Given the description of an element on the screen output the (x, y) to click on. 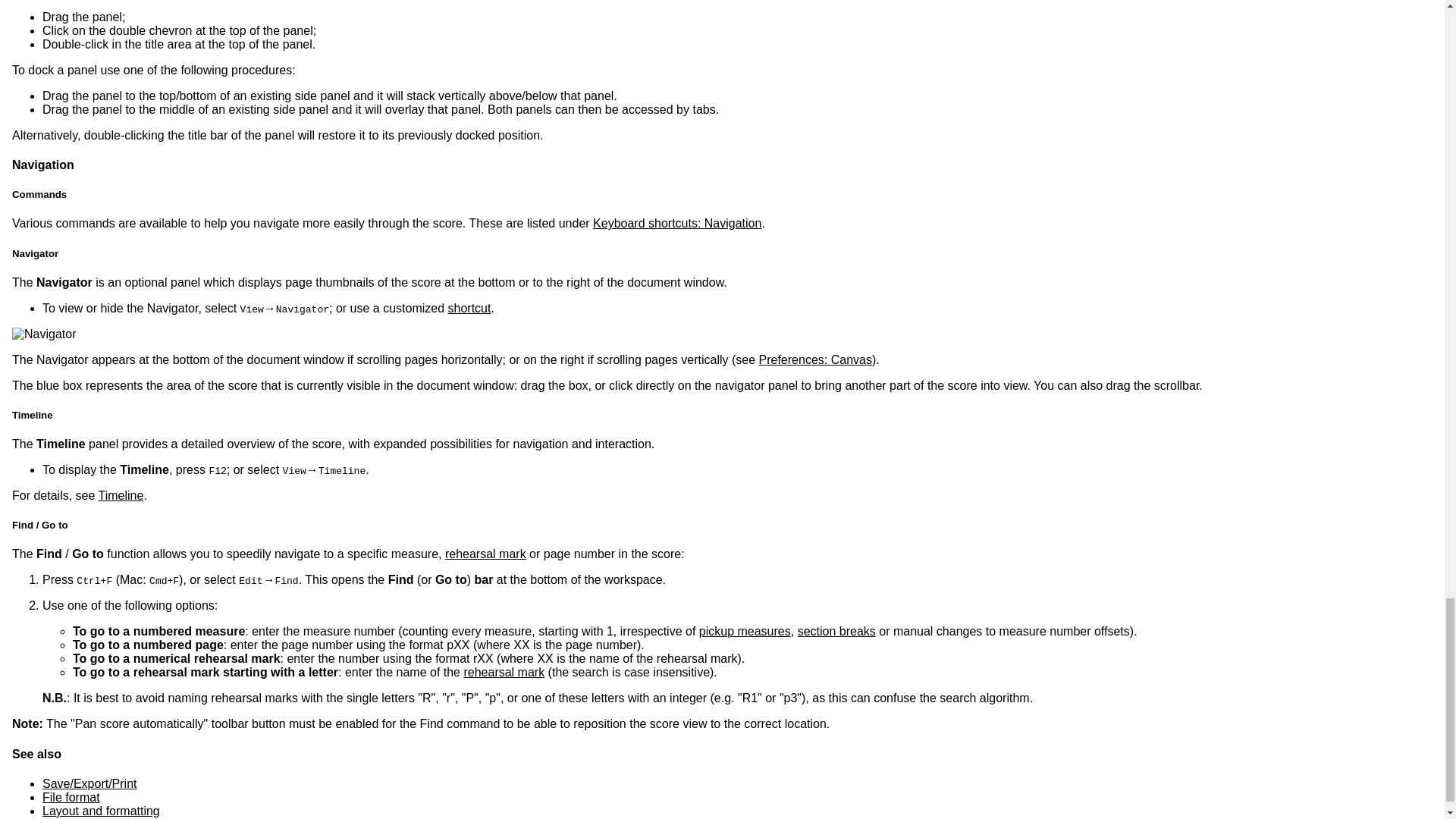
rehearsal mark (485, 553)
Preferences: Canvas (815, 359)
section breaks (836, 631)
Layout and formatting (101, 810)
rehearsal mark (503, 671)
Keyboard shortcuts: Navigation (676, 223)
Timeline (121, 495)
pickup measures (744, 631)
Navigator (43, 334)
File format (71, 797)
shortcut (470, 308)
